Given the description of an element on the screen output the (x, y) to click on. 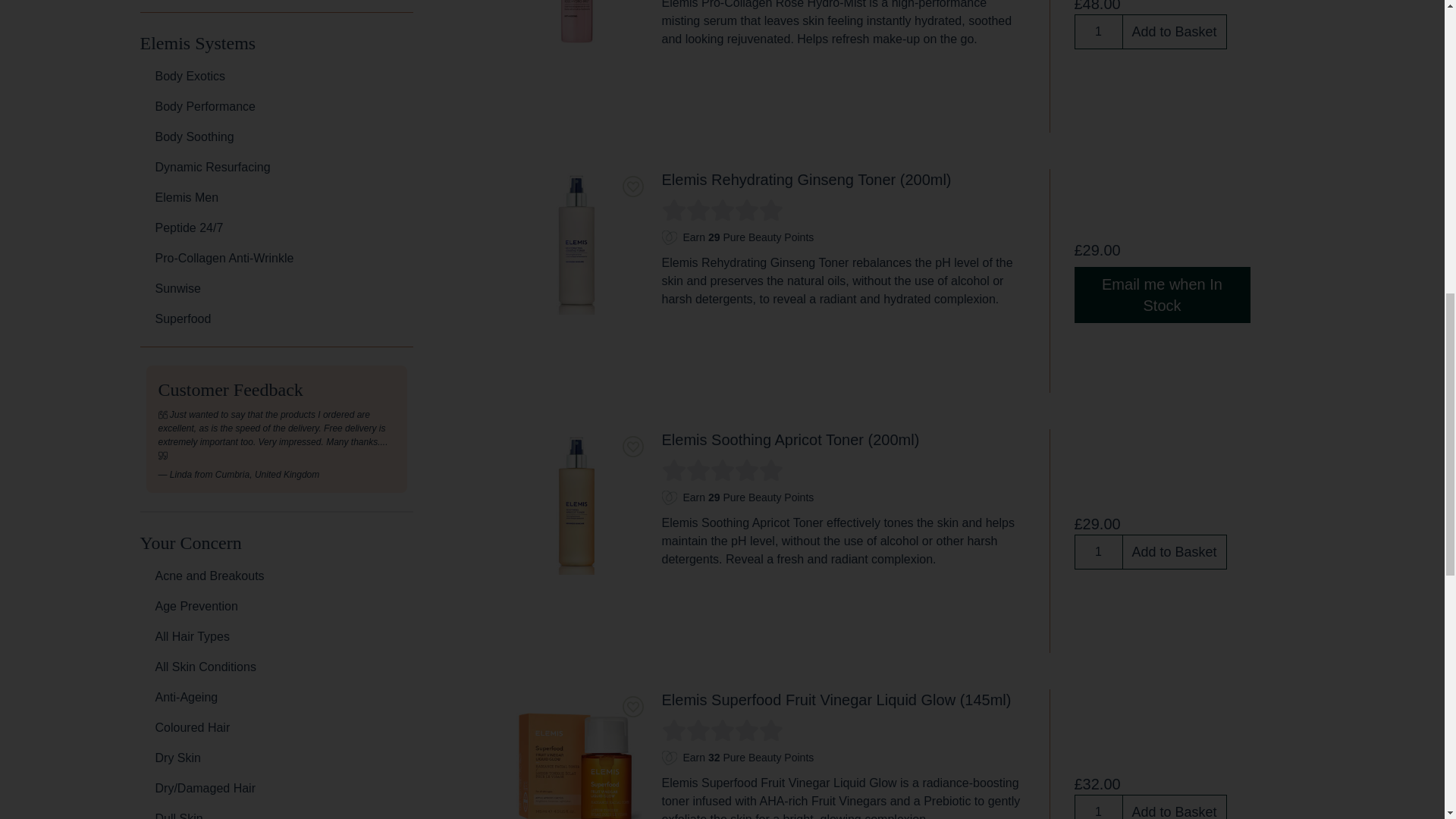
1 (1098, 550)
1 (1098, 30)
1 (1098, 806)
This item isn't your favourites (632, 186)
